Given the description of an element on the screen output the (x, y) to click on. 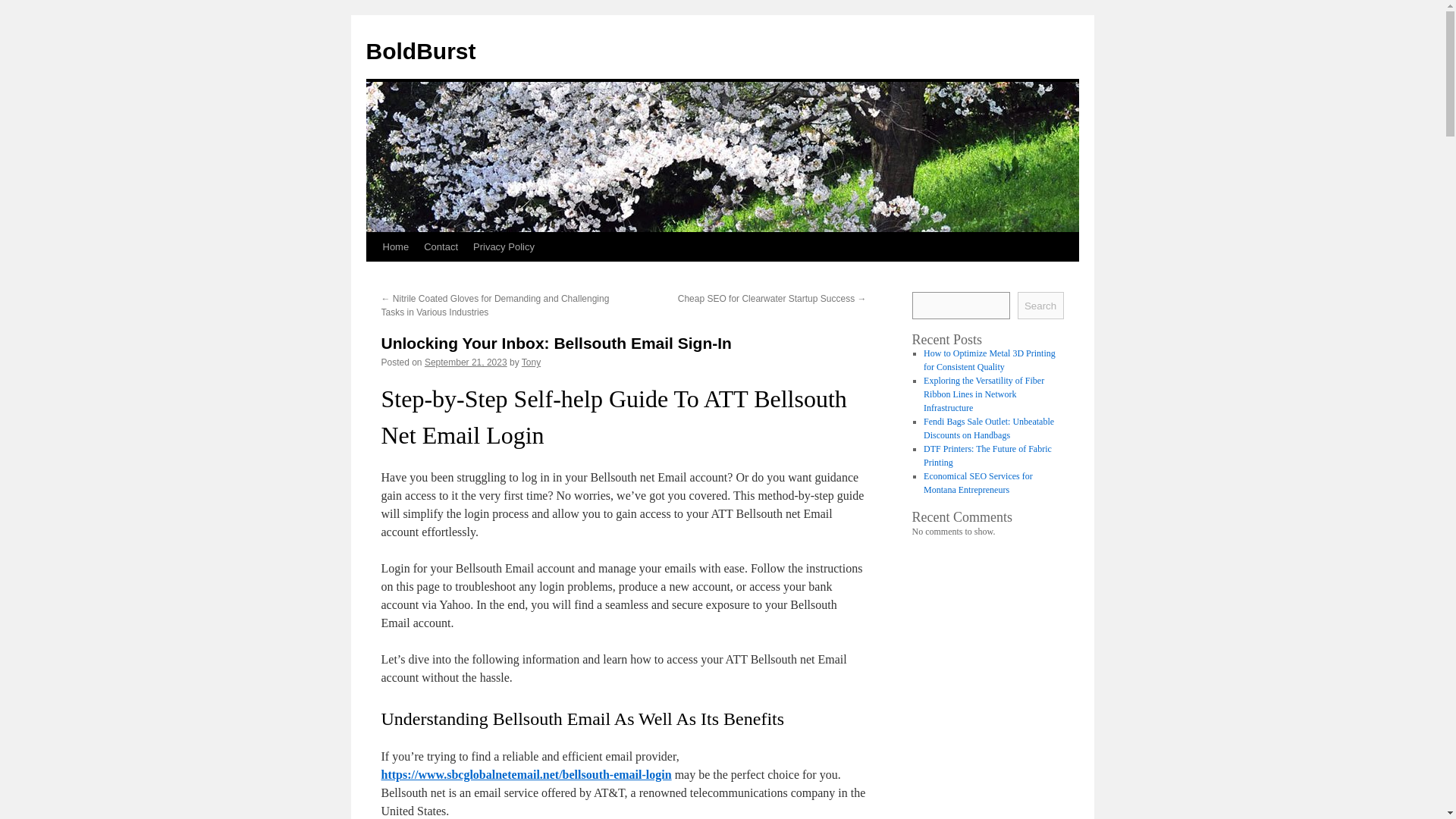
How to Optimize Metal 3D Printing for Consistent Quality (989, 360)
Privacy Policy (503, 246)
BoldBurst (420, 50)
Fendi Bags Sale Outlet: Unbeatable Discounts on Handbags (988, 428)
Search (1040, 305)
Contact (440, 246)
DTF Printers: The Future of Fabric Printing (987, 455)
Economical SEO Services for Montana Entrepreneurs (977, 482)
September 21, 2023 (465, 362)
Tony (530, 362)
Home (395, 246)
10:53 pm (465, 362)
View all posts by Tony (530, 362)
Skip to content (372, 274)
